Given the description of an element on the screen output the (x, y) to click on. 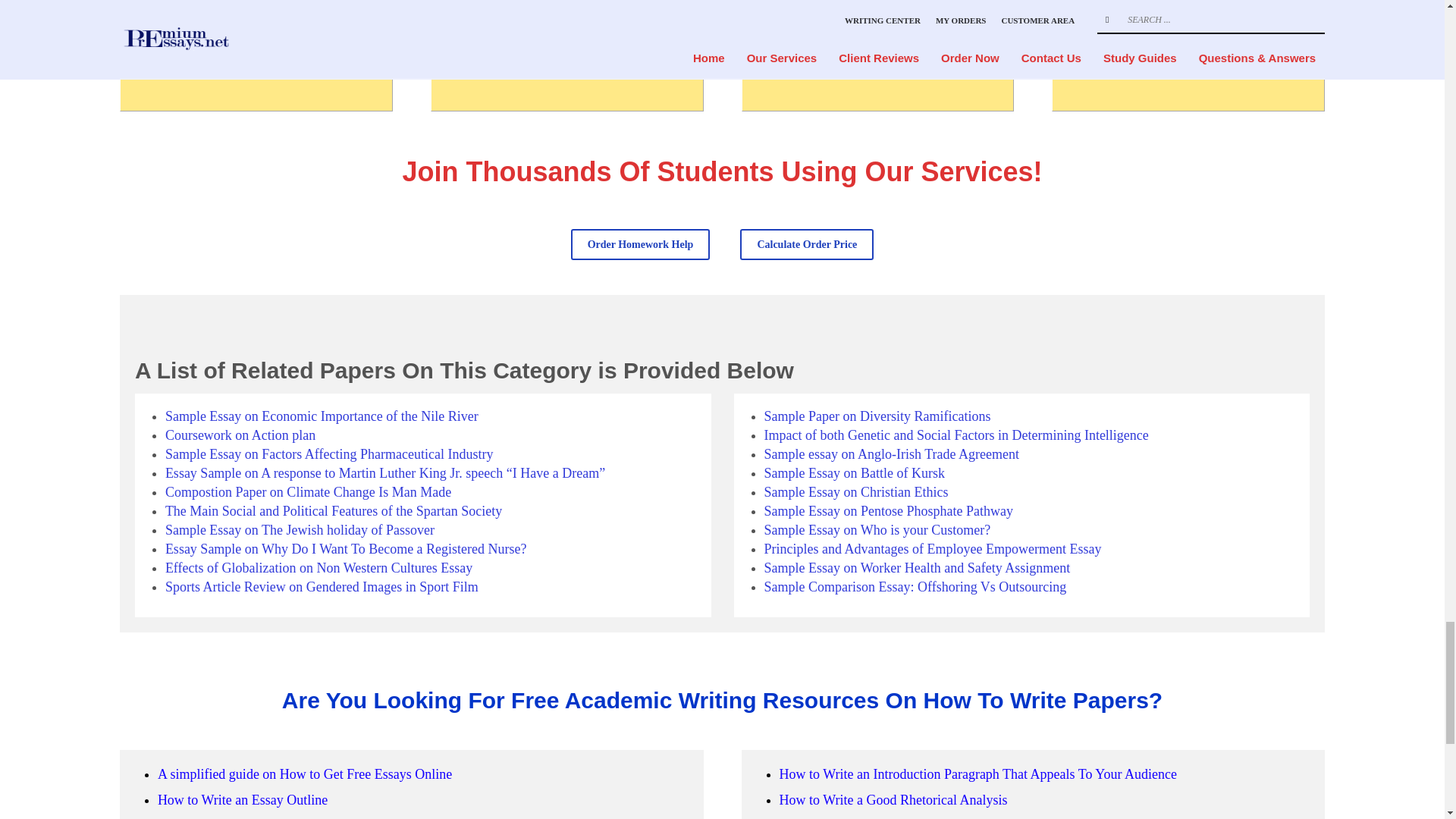
Sample Essay on The Jewish holiday of Passover (299, 529)
Sample Essay on Factors Affecting Pharmaceutical Industry (329, 453)
Sample Essay on Economic Importance of the Nile River (322, 416)
Coursework on Action plan (240, 435)
Compostion Paper on Climate Change Is Man Made (308, 491)
Order Homework Help (640, 244)
Essay Sample on Why Do I Want To Become a Registered Nurse? (346, 548)
Calculate Order Price (806, 244)
